Given the description of an element on the screen output the (x, y) to click on. 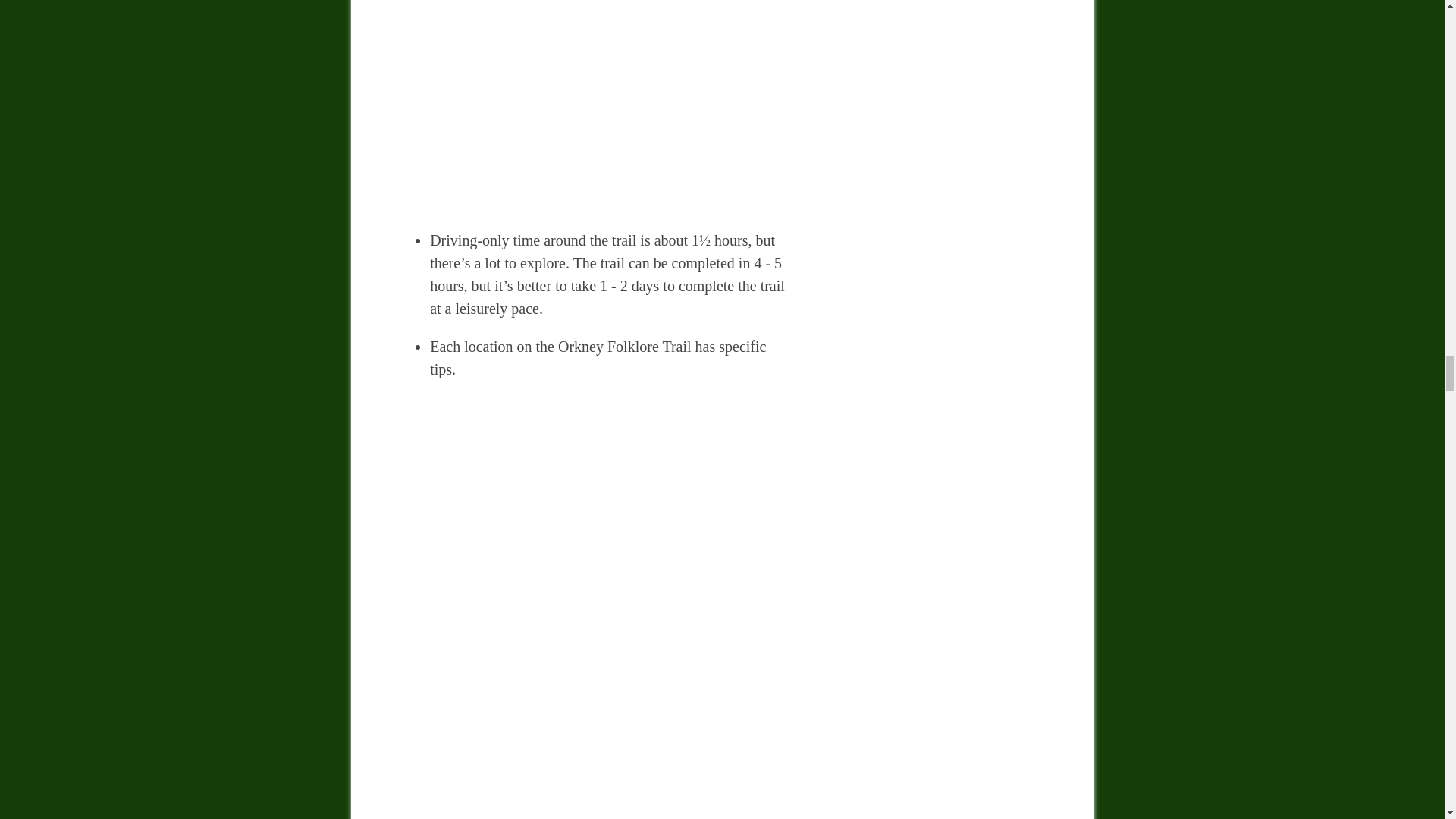
Helpful Orkney story trail tips (595, 104)
